Given the description of an element on the screen output the (x, y) to click on. 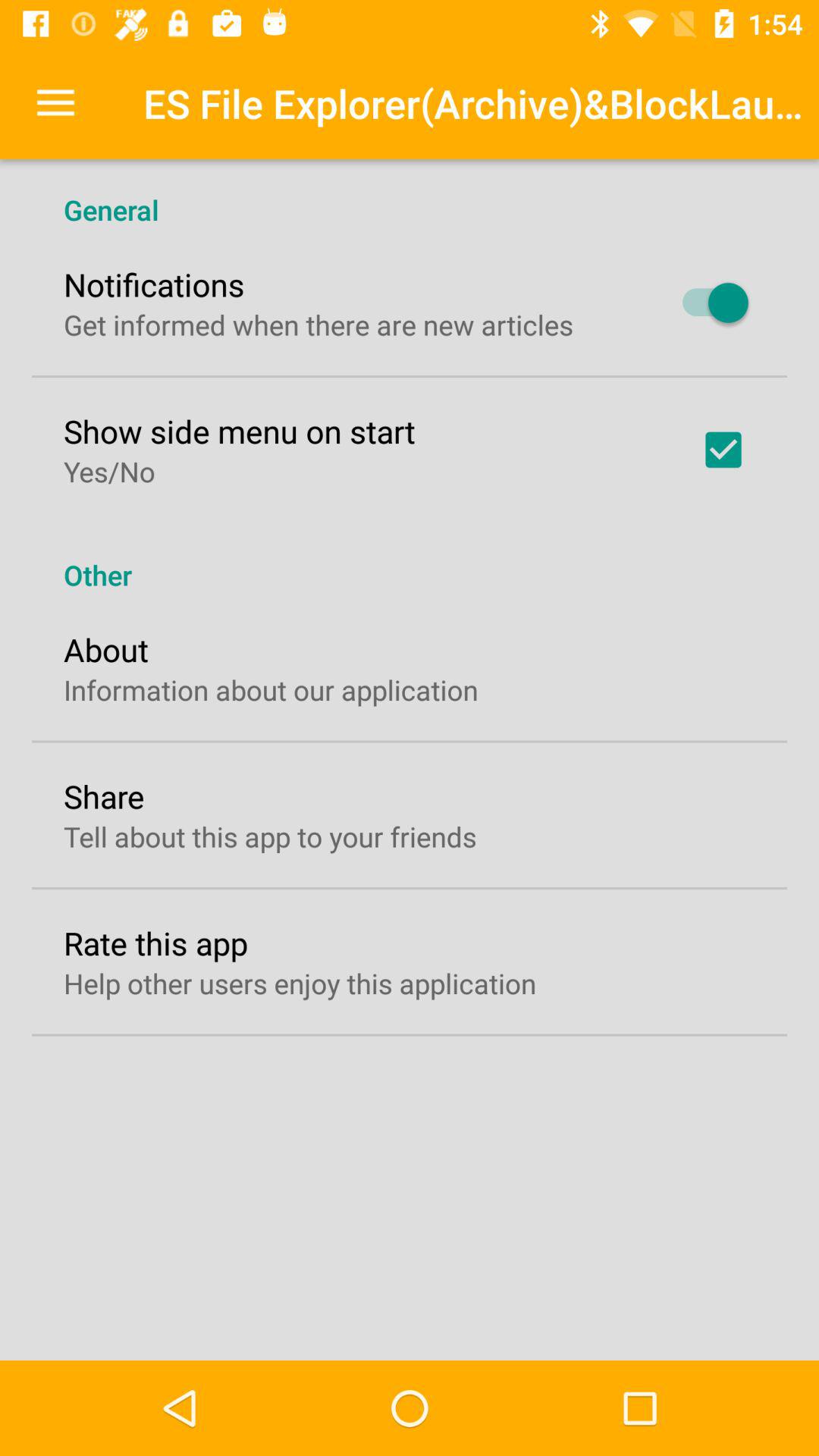
tap the item above tell about this item (103, 795)
